Given the description of an element on the screen output the (x, y) to click on. 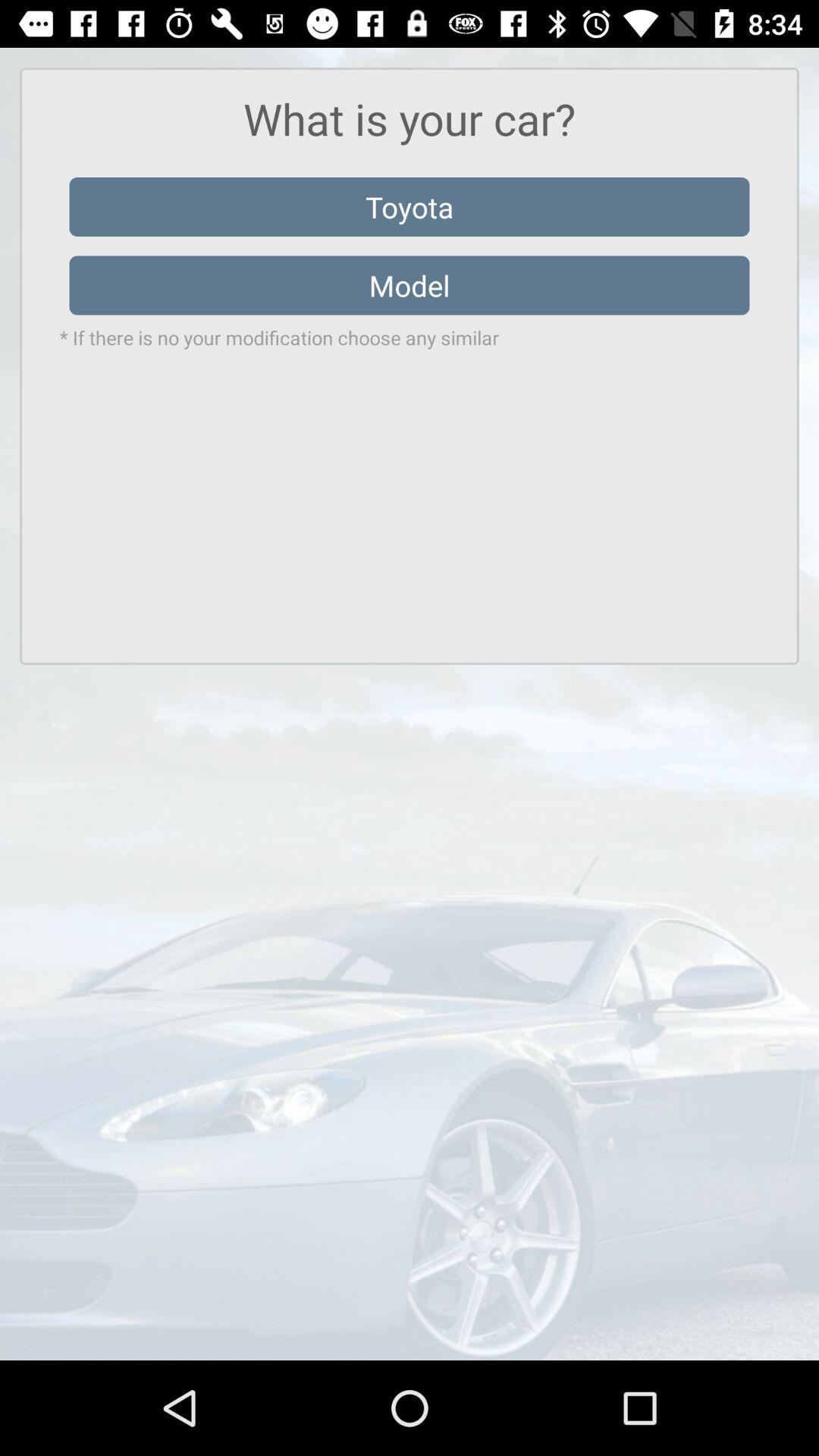
flip to toyota (409, 206)
